Given the description of an element on the screen output the (x, y) to click on. 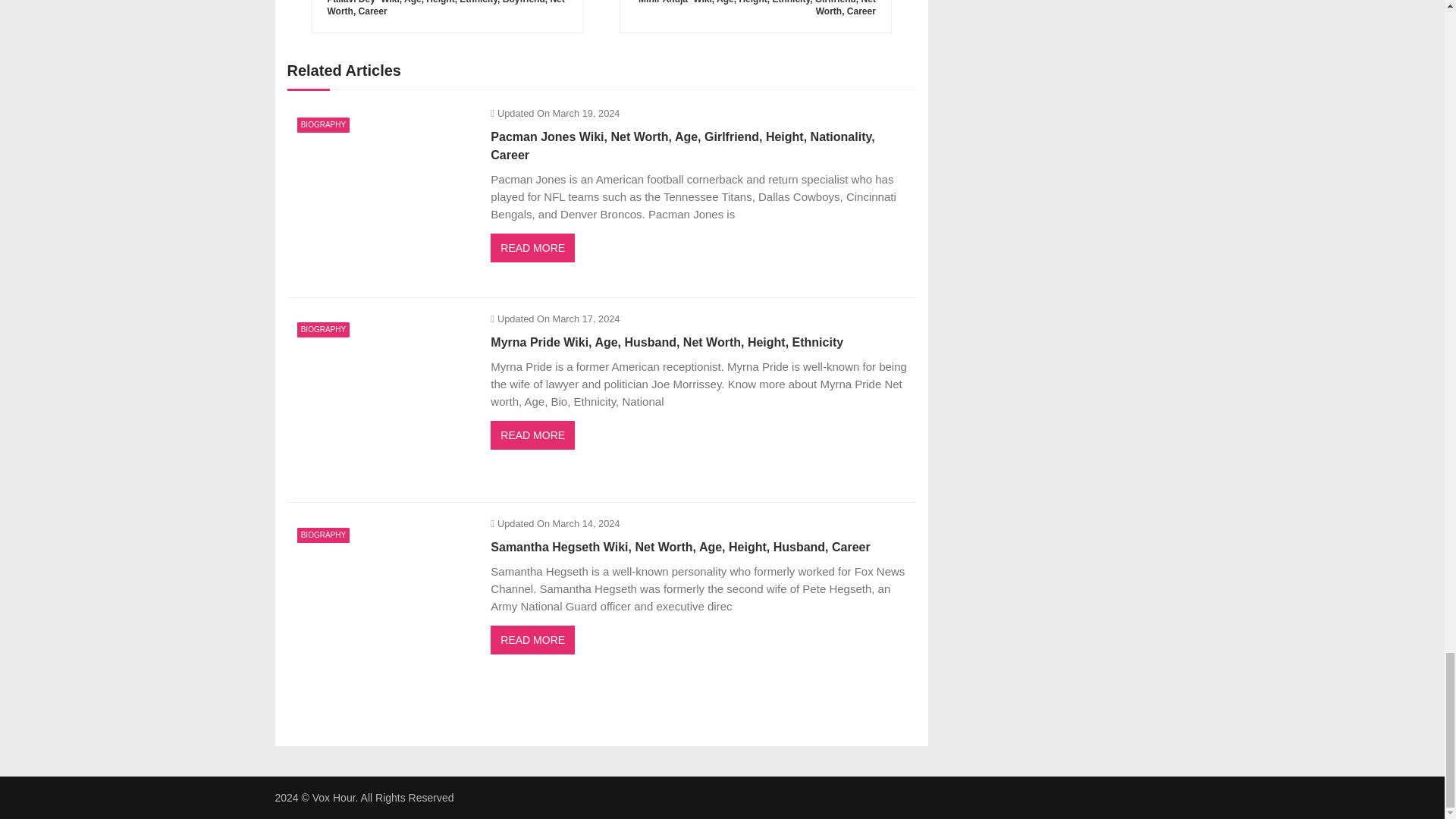
Myrna Pride Wiki, Age, Husband, Net Worth, Height, Ethnicity (381, 399)
